Given the description of an element on the screen output the (x, y) to click on. 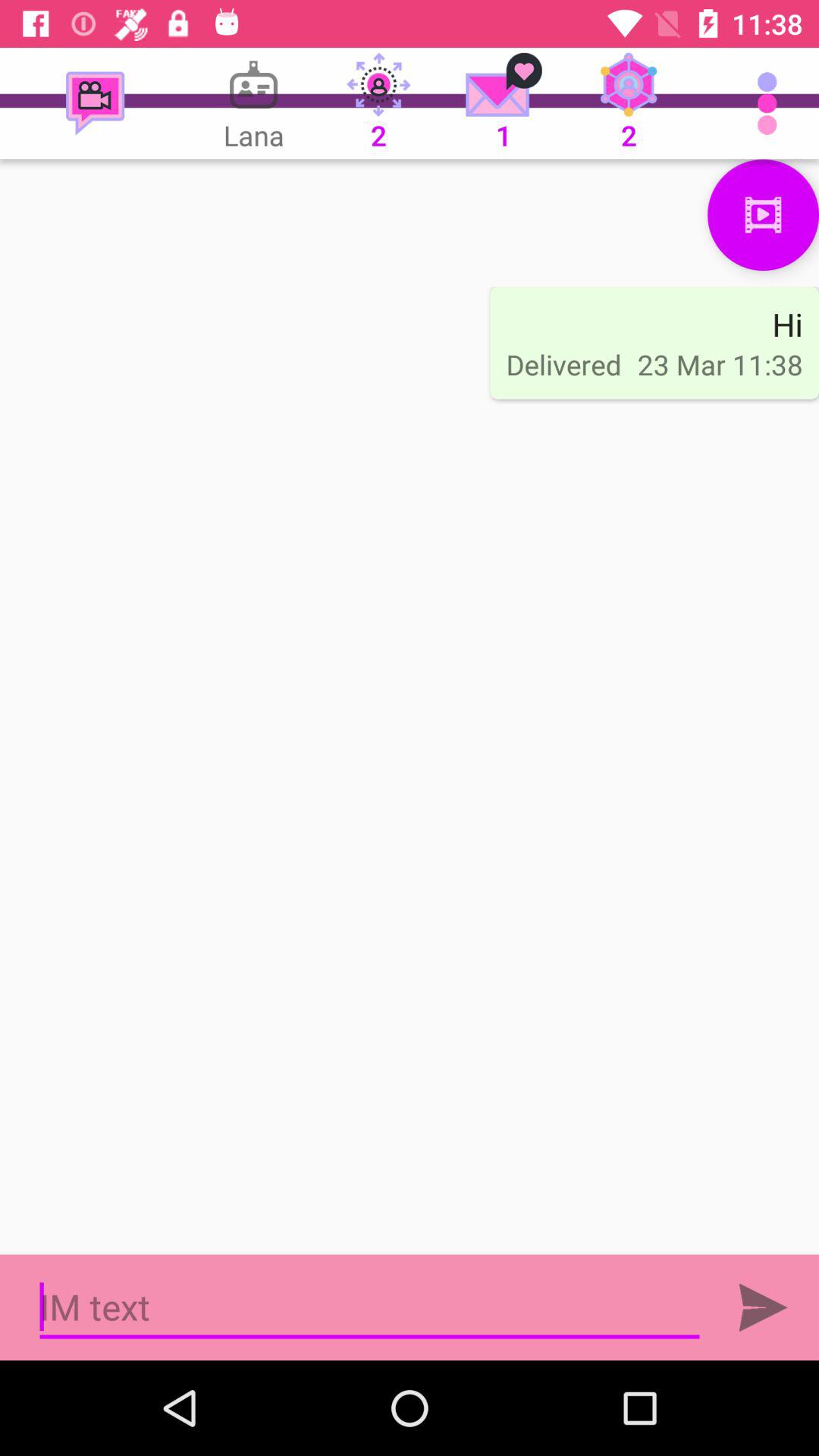
open keyboard (369, 1307)
